Given the description of an element on the screen output the (x, y) to click on. 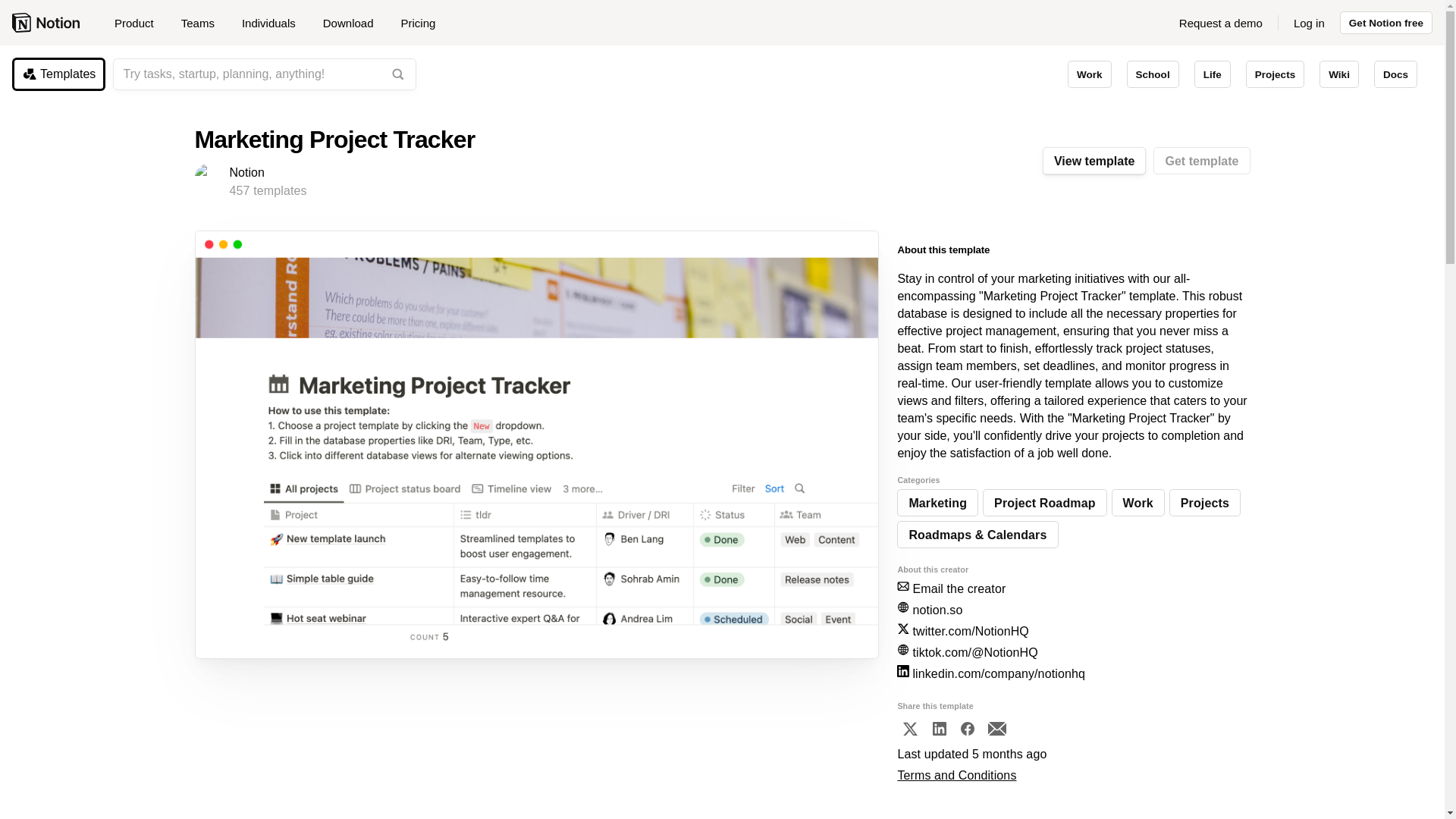
Teams (203, 22)
Get Notion free (1385, 22)
Individuals (274, 22)
Download (354, 22)
Pricing (417, 22)
Request a demo (1220, 22)
Product (139, 22)
Log in (1308, 22)
